Given the description of an element on the screen output the (x, y) to click on. 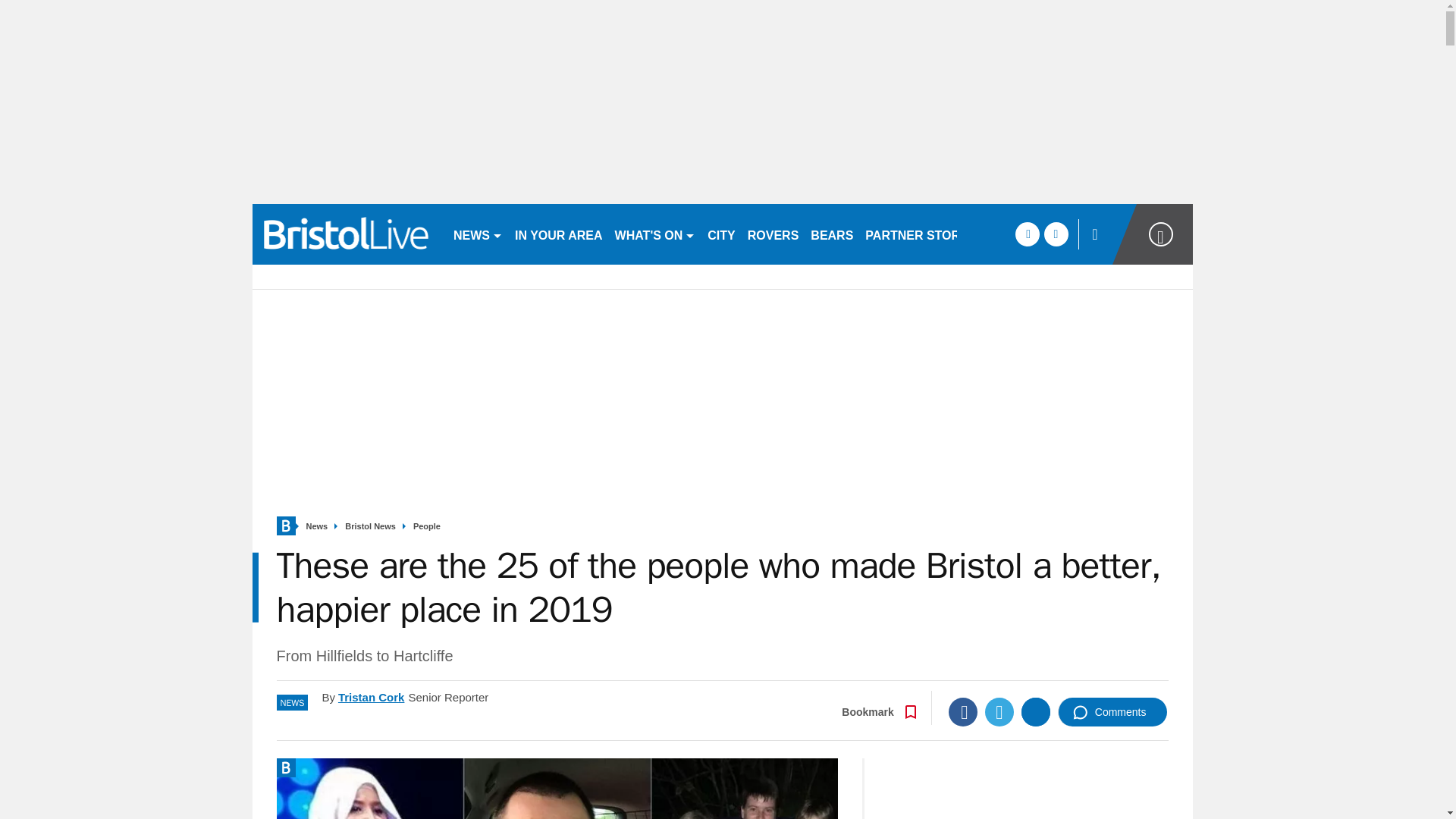
PARTNER STORIES (922, 233)
Twitter (999, 711)
Facebook (962, 711)
facebook (1026, 233)
twitter (1055, 233)
Comments (1112, 711)
BEARS (832, 233)
NEWS (477, 233)
IN YOUR AREA (558, 233)
WHAT'S ON (654, 233)
